Given the description of an element on the screen output the (x, y) to click on. 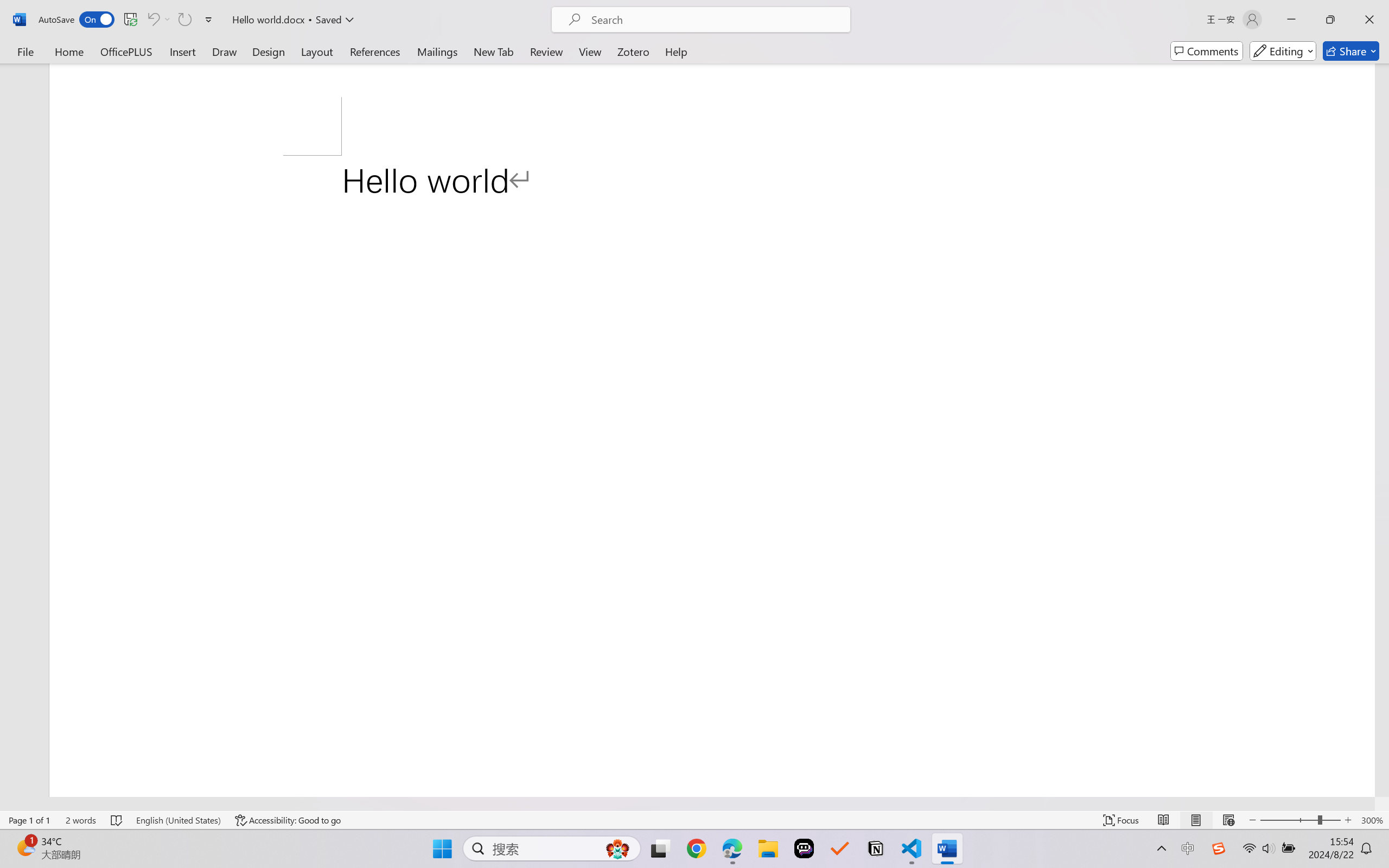
Zotero (632, 51)
Page Number Page 1 of 1 (29, 819)
References (375, 51)
Zoom 300% (1372, 819)
Accessibility Checker Accessibility: Good to go (288, 819)
Save (130, 19)
AutomationID: DynamicSearchBoxGleamImage (617, 848)
Design (268, 51)
Quick Access Toolbar (127, 19)
Restore Down (1330, 19)
Customize Quick Access Toolbar (208, 19)
AutomationID: BadgeAnchorLargeTicker (24, 847)
Minimize (1291, 19)
Close (1369, 19)
